Given the description of an element on the screen output the (x, y) to click on. 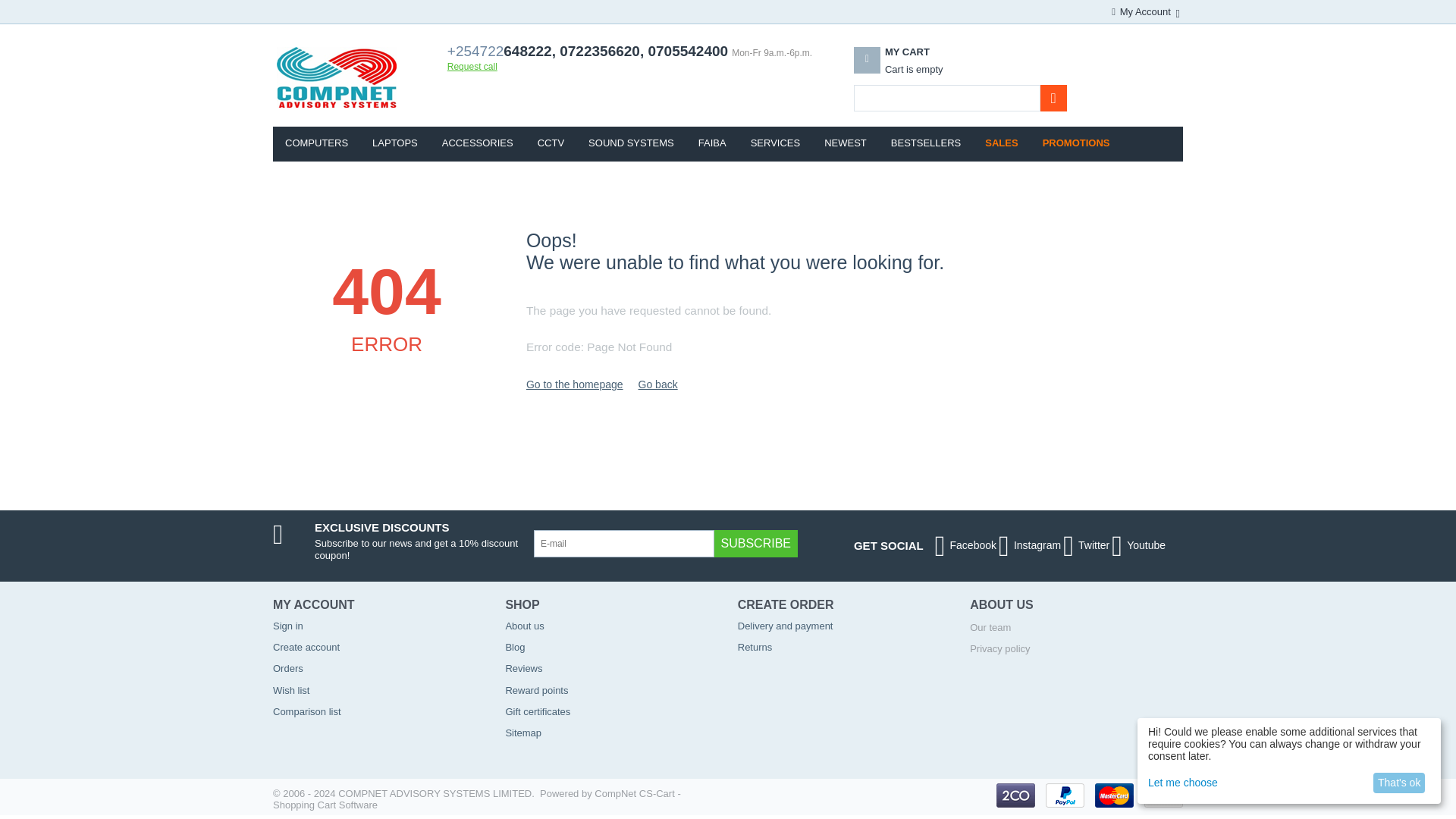
Search (1054, 98)
CompNet Advisory Systems Ltd (337, 77)
Request call (471, 66)
CompNet Advisory Systems Ltd (337, 76)
My Account (1144, 11)
Search products (911, 69)
